Given the description of an element on the screen output the (x, y) to click on. 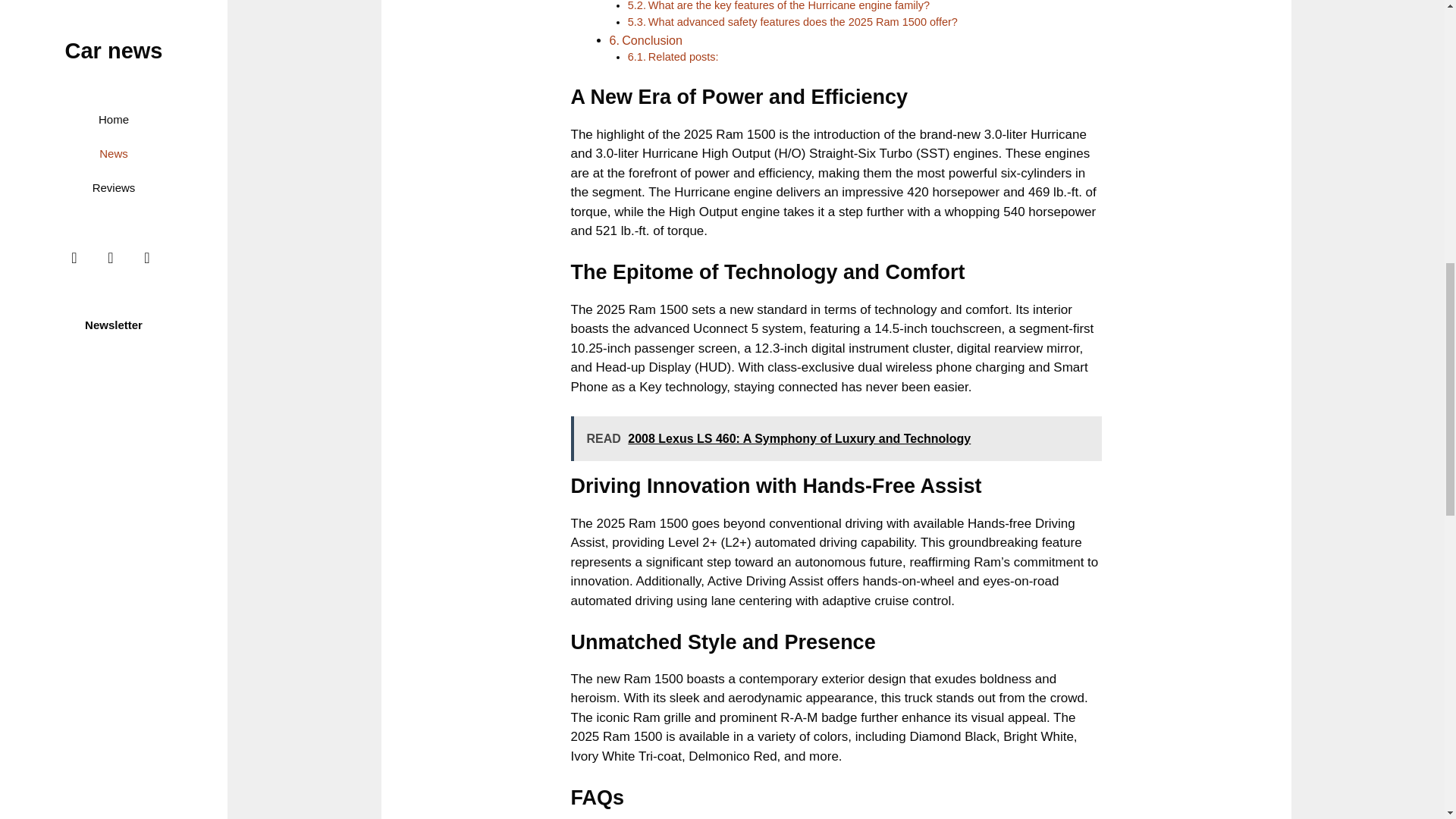
What are the key features of the Hurricane engine family? (788, 5)
What are the key features of the Hurricane engine family? (788, 5)
READ  2008 Lexus LS 460: A Symphony of Luxury and Technology (835, 438)
Related posts: (683, 56)
What advanced safety features does the 2025 Ram 1500 offer? (802, 21)
Conclusion (651, 39)
What advanced safety features does the 2025 Ram 1500 offer? (802, 21)
Conclusion (651, 39)
Related posts: (683, 56)
